Given the description of an element on the screen output the (x, y) to click on. 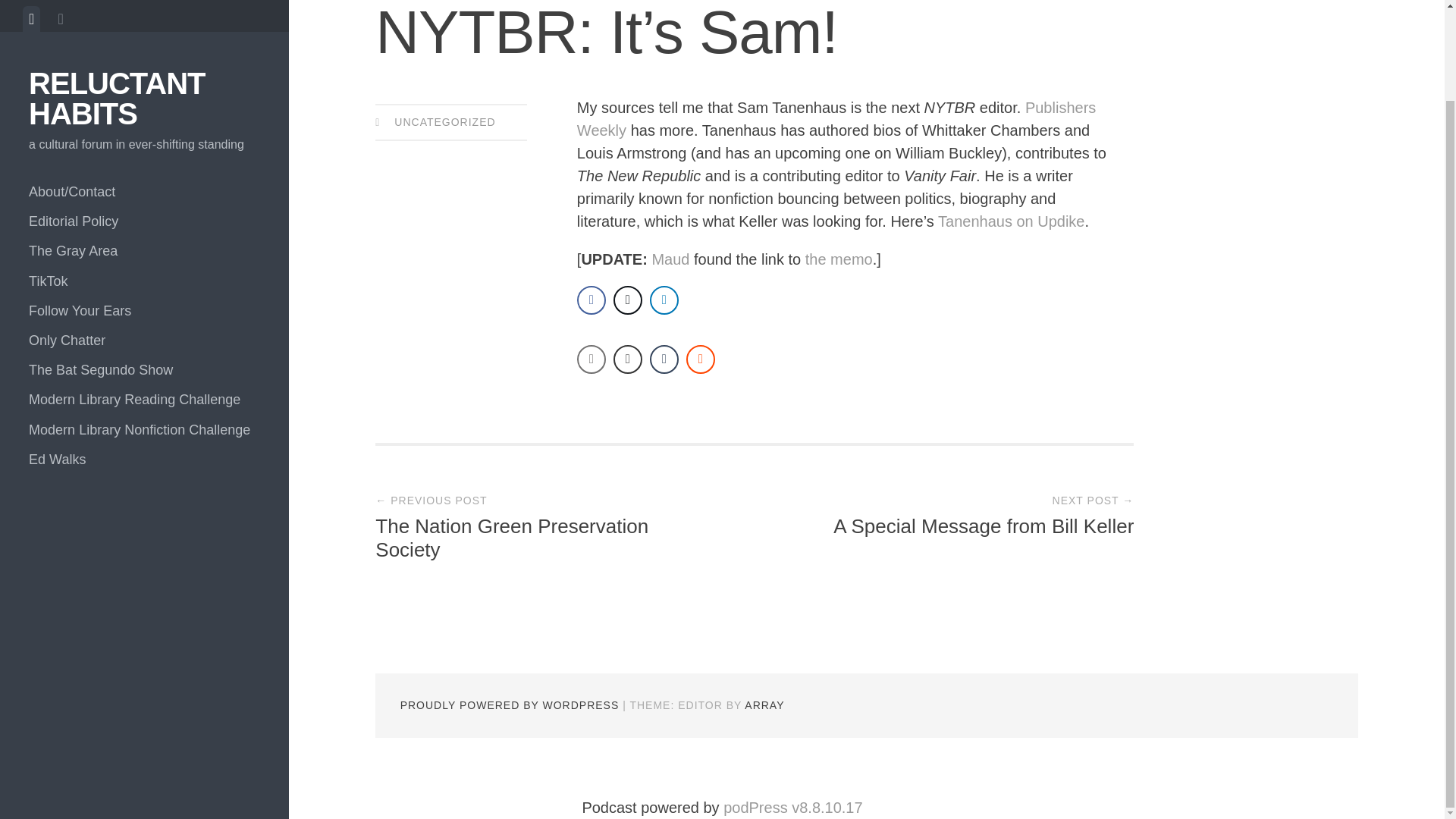
RELUCTANT HABITS (117, 13)
Editorial Policy (144, 117)
TikTok (144, 177)
The Gray Area (144, 147)
podPress, a plugin for podcasting with WordPress (792, 807)
Follow Your Ears (144, 206)
Only Chatter (144, 236)
Modern Library Nonfiction Challenge (144, 326)
Modern Library Reading Challenge (144, 296)
Ed Walks (144, 356)
